Given the description of an element on the screen output the (x, y) to click on. 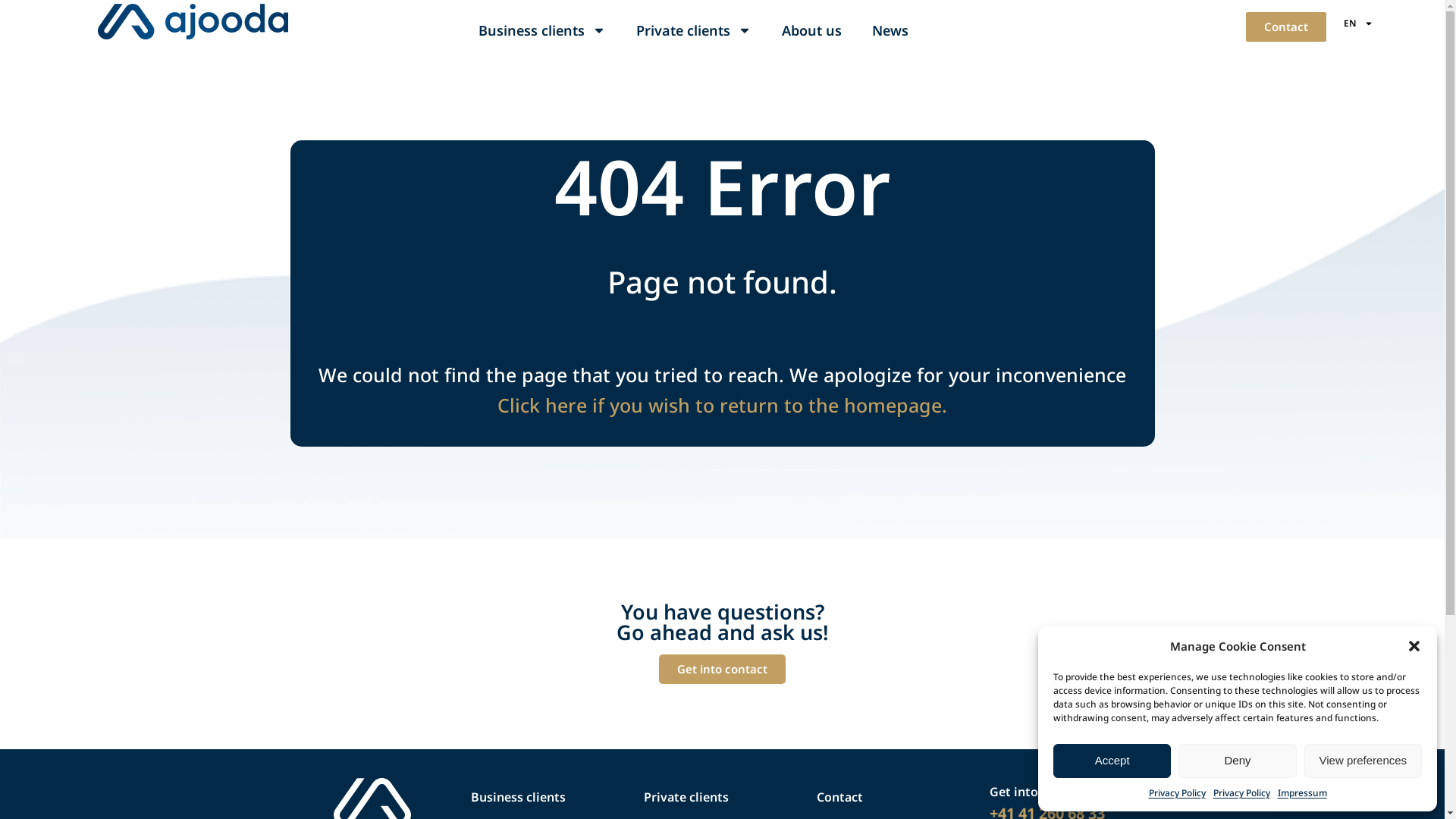
Contact Element type: text (1285, 26)
News Element type: text (889, 29)
EN Element type: text (1358, 23)
About us Element type: text (811, 29)
Click here if you wish to return to the homepage. Element type: text (722, 404)
Accept Element type: text (1111, 760)
Privacy Policy Element type: text (1176, 792)
Deny Element type: text (1236, 760)
Business clients Element type: text (517, 796)
Business clients Element type: text (542, 29)
View preferences Element type: text (1362, 760)
Contact Element type: text (838, 796)
Get into contact Element type: text (721, 669)
Private clients Element type: text (685, 796)
WhatsApp Chat Element type: text (1349, 780)
Privacy Policy Element type: text (1241, 792)
Impressum Element type: text (1301, 792)
Private clients Element type: text (693, 29)
